Given the description of an element on the screen output the (x, y) to click on. 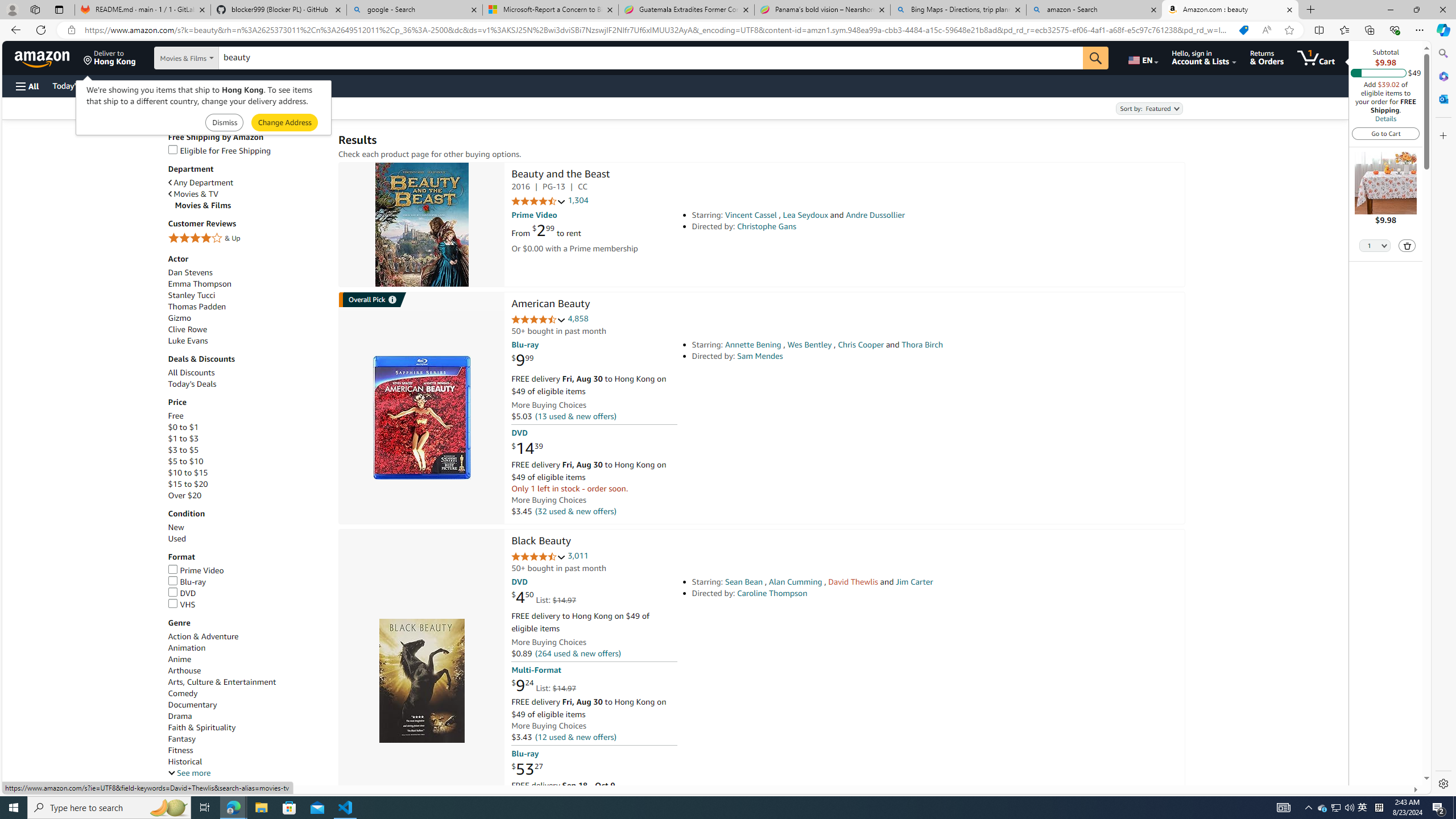
Fantasy (247, 738)
4.7 out of 5 stars (538, 557)
Beauty and the Beast (421, 224)
Historical (247, 761)
Clive Rowe (247, 329)
Returns & Orders (1266, 57)
Lea Seydoux (805, 214)
